Given the description of an element on the screen output the (x, y) to click on. 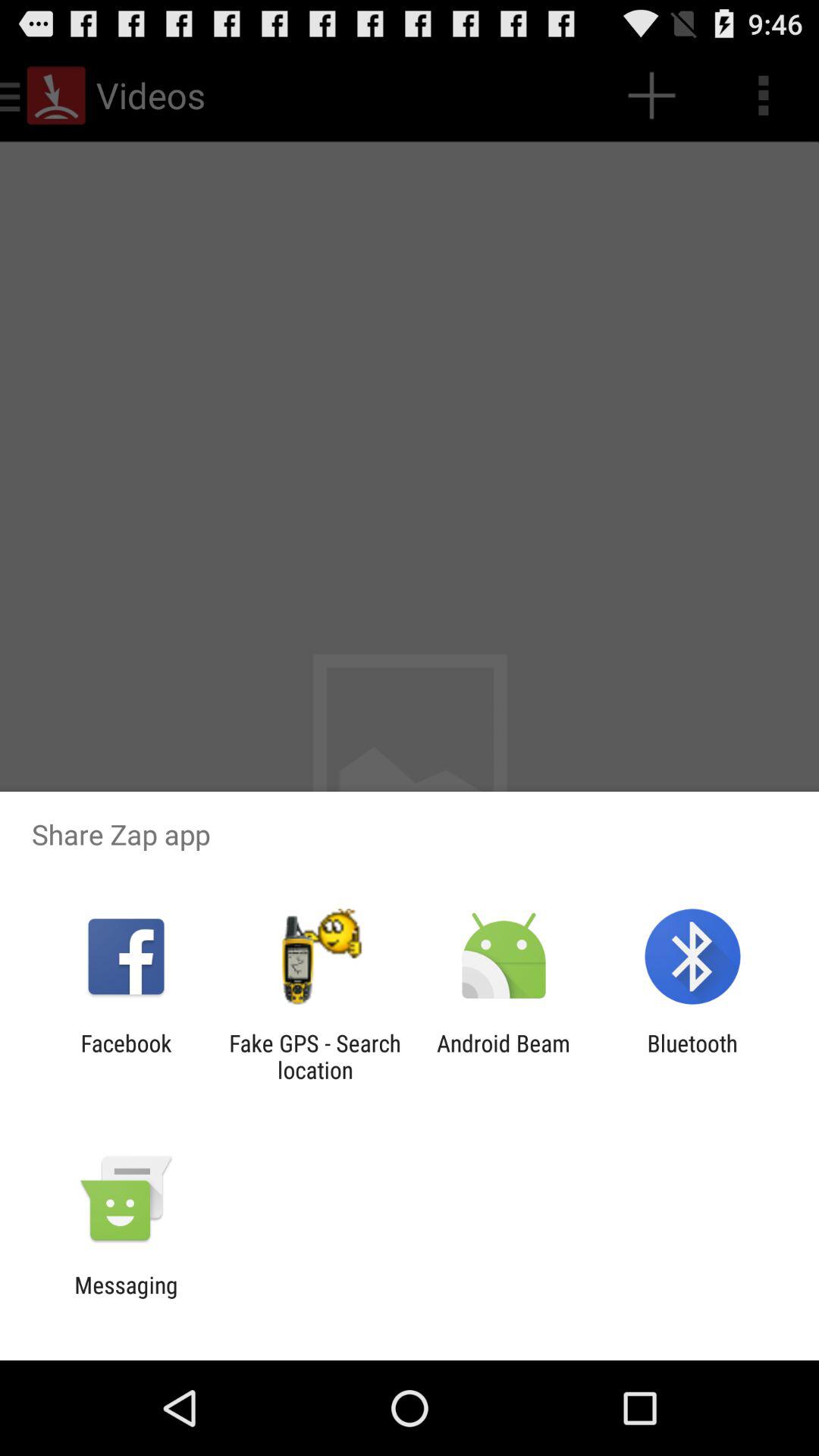
press item next to the fake gps search (125, 1056)
